Given the description of an element on the screen output the (x, y) to click on. 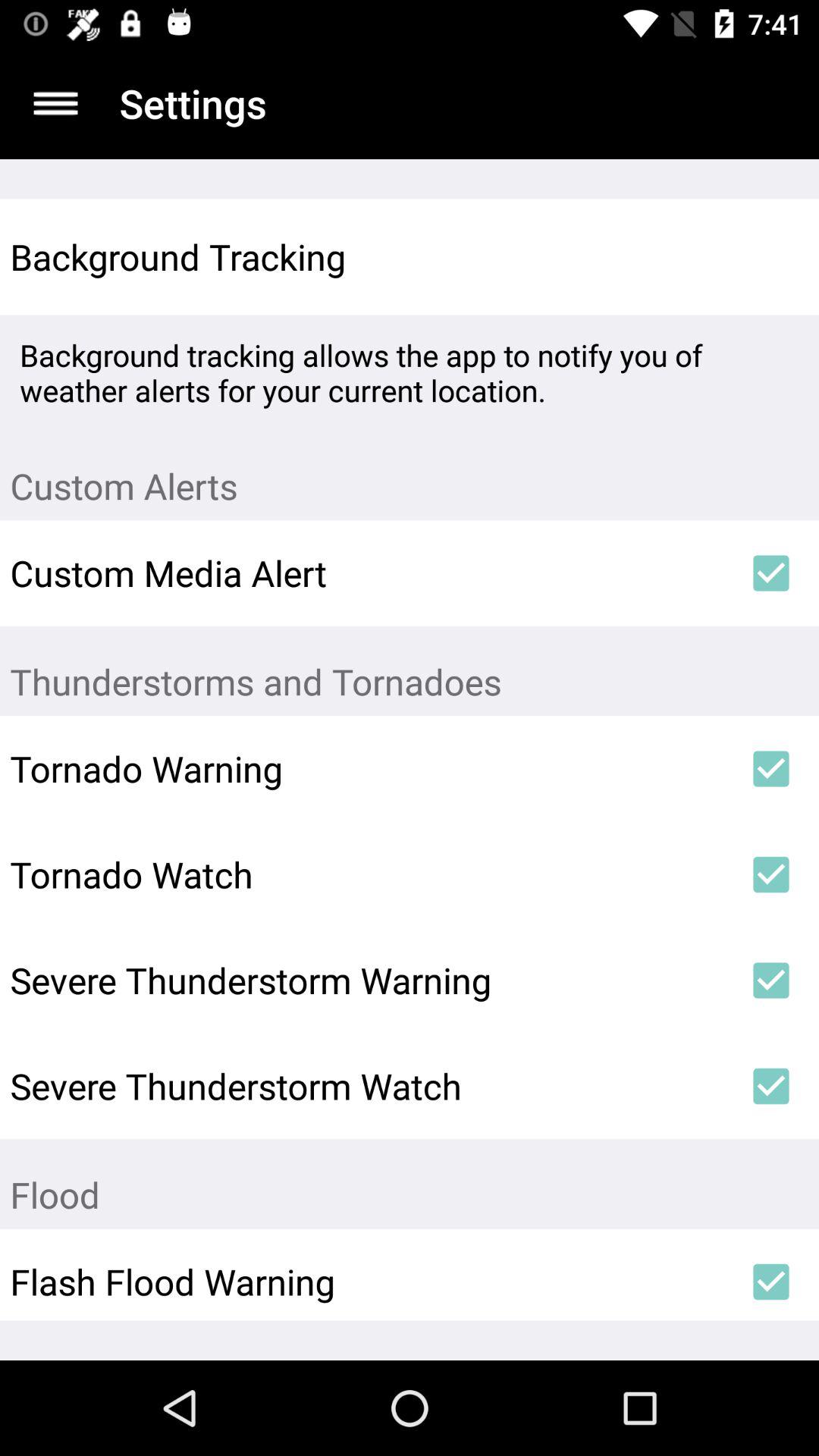
turn off icon to the left of settings app (55, 103)
